Given the description of an element on the screen output the (x, y) to click on. 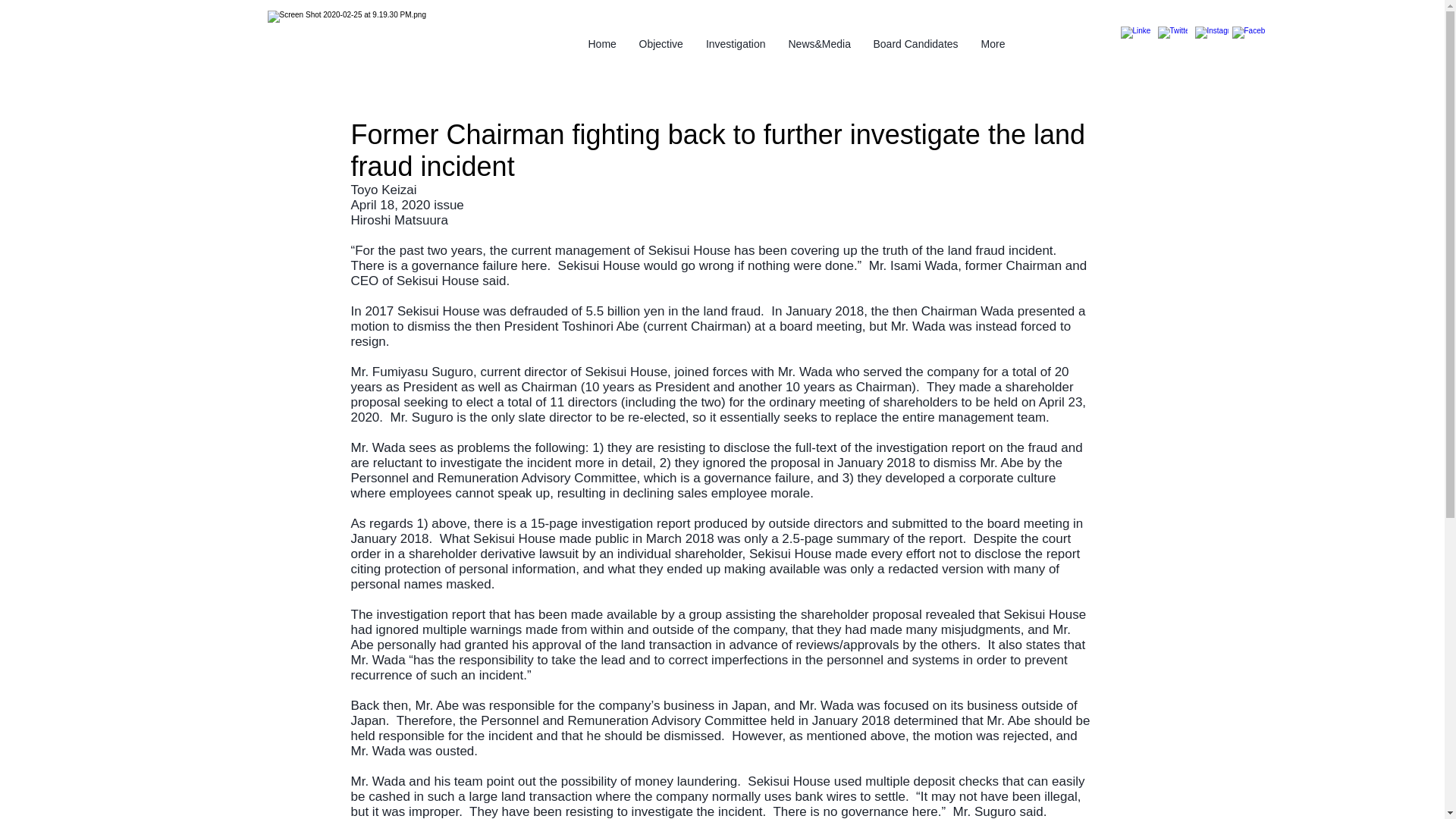
Investigation (735, 43)
Objective (660, 43)
Home (601, 43)
Board Candidates (915, 43)
